Given the description of an element on the screen output the (x, y) to click on. 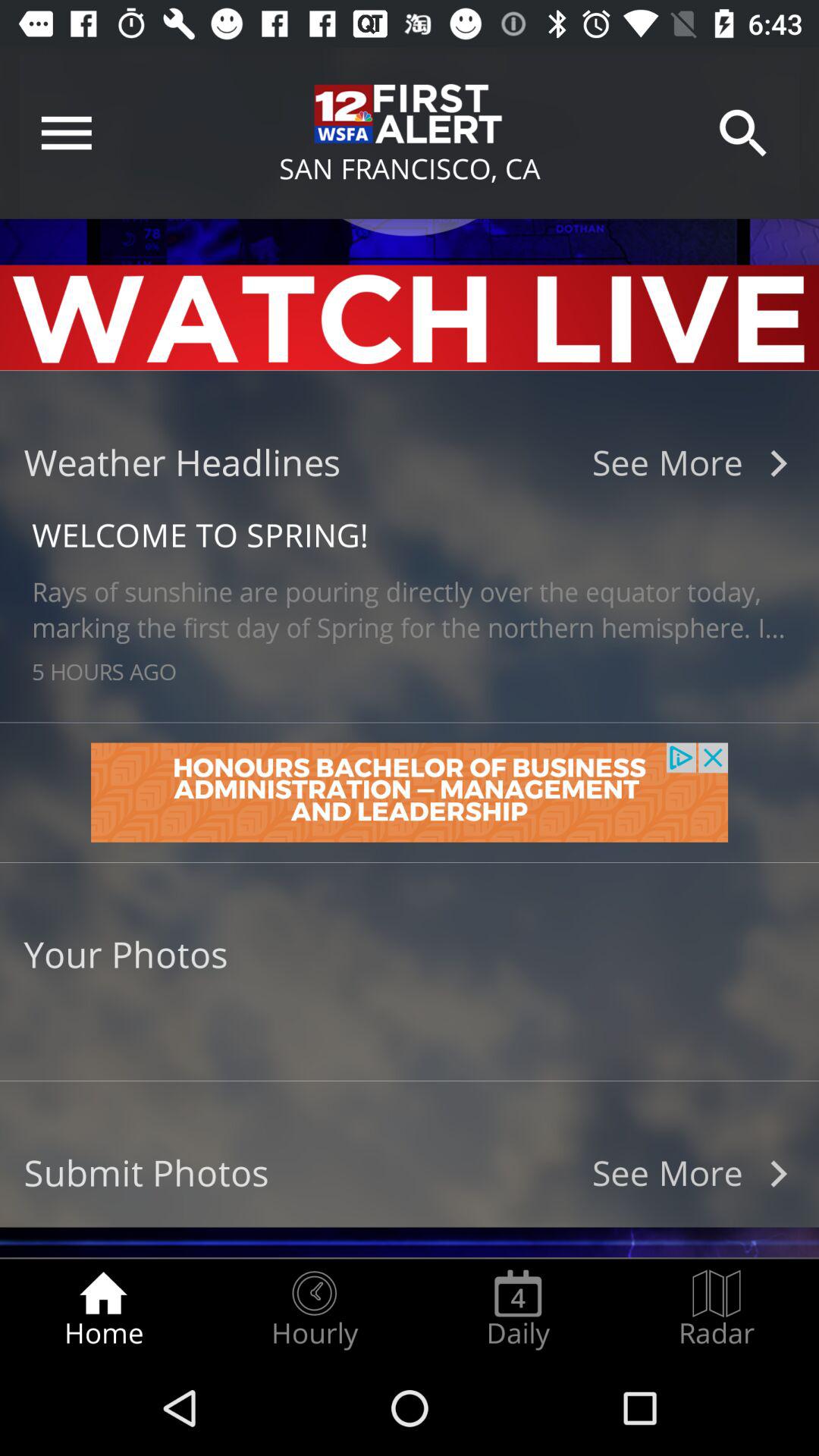
click the icon next to the daily radio button (314, 1309)
